Given the description of an element on the screen output the (x, y) to click on. 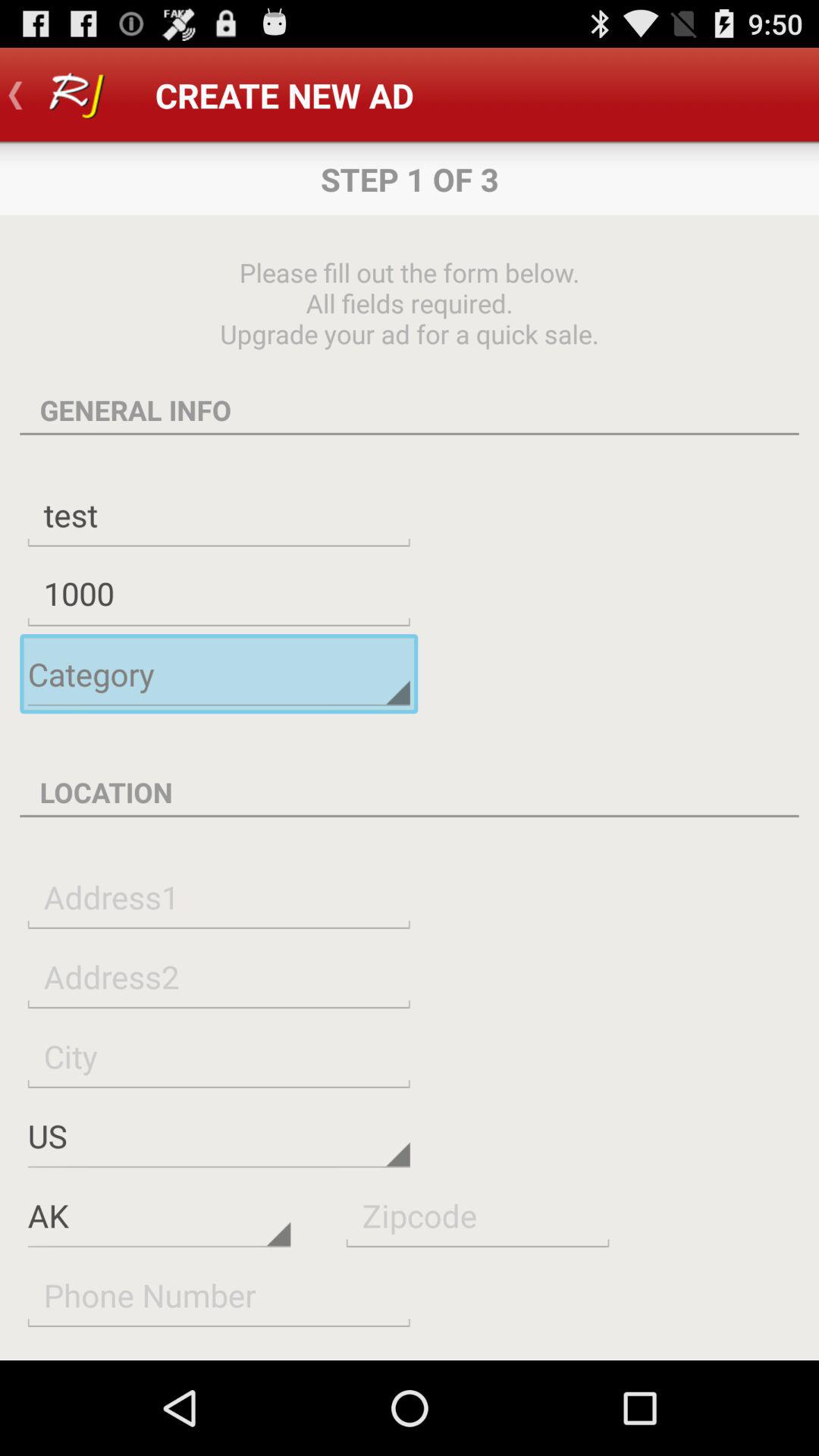
enter city field (218, 1055)
